Given the description of an element on the screen output the (x, y) to click on. 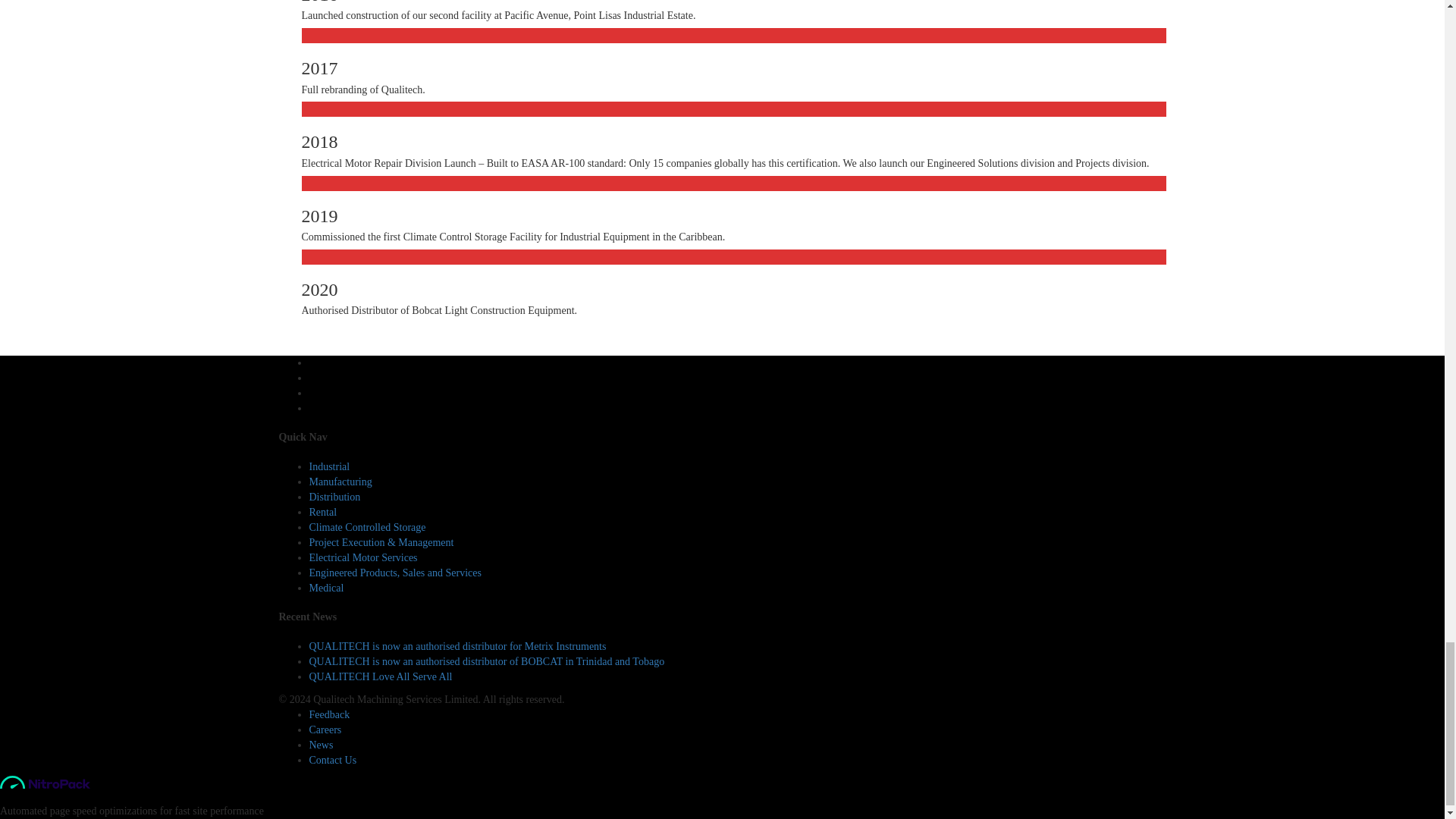
Manufacturing (340, 481)
Distribution (334, 496)
Climate Controlled Storage (367, 527)
Rental (322, 511)
Industrial (329, 466)
